Given the description of an element on the screen output the (x, y) to click on. 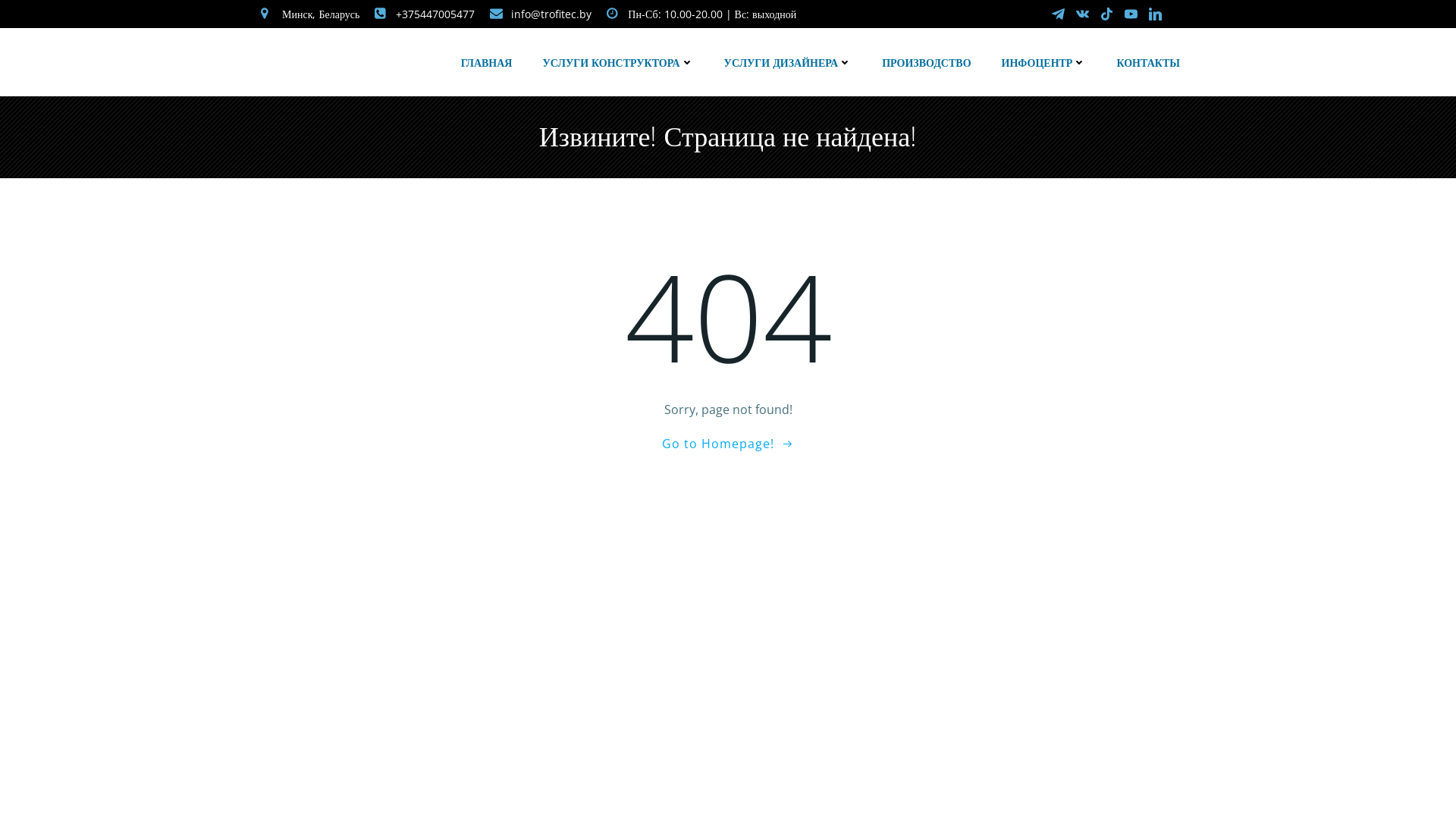
Go to Homepage! Element type: text (727, 443)
